Given the description of an element on the screen output the (x, y) to click on. 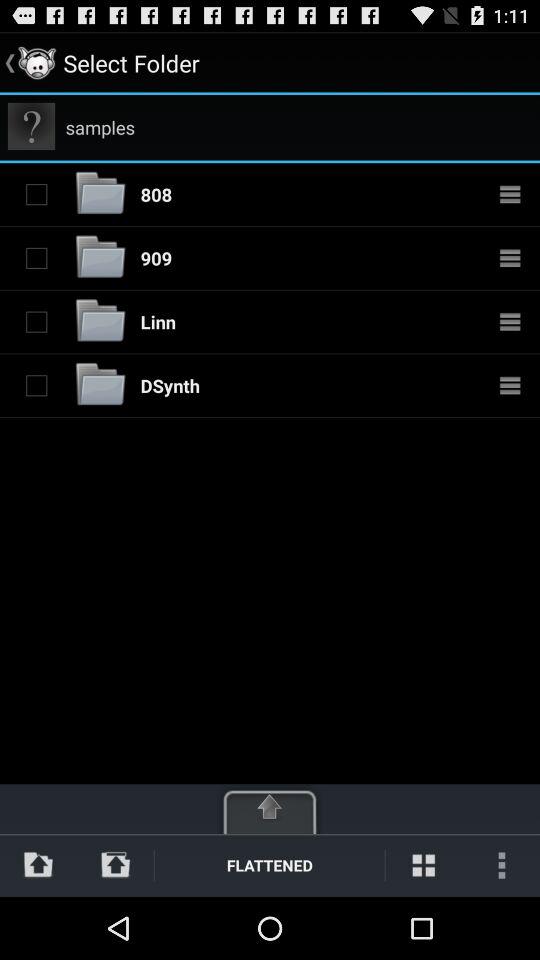
folder options (510, 257)
